Given the description of an element on the screen output the (x, y) to click on. 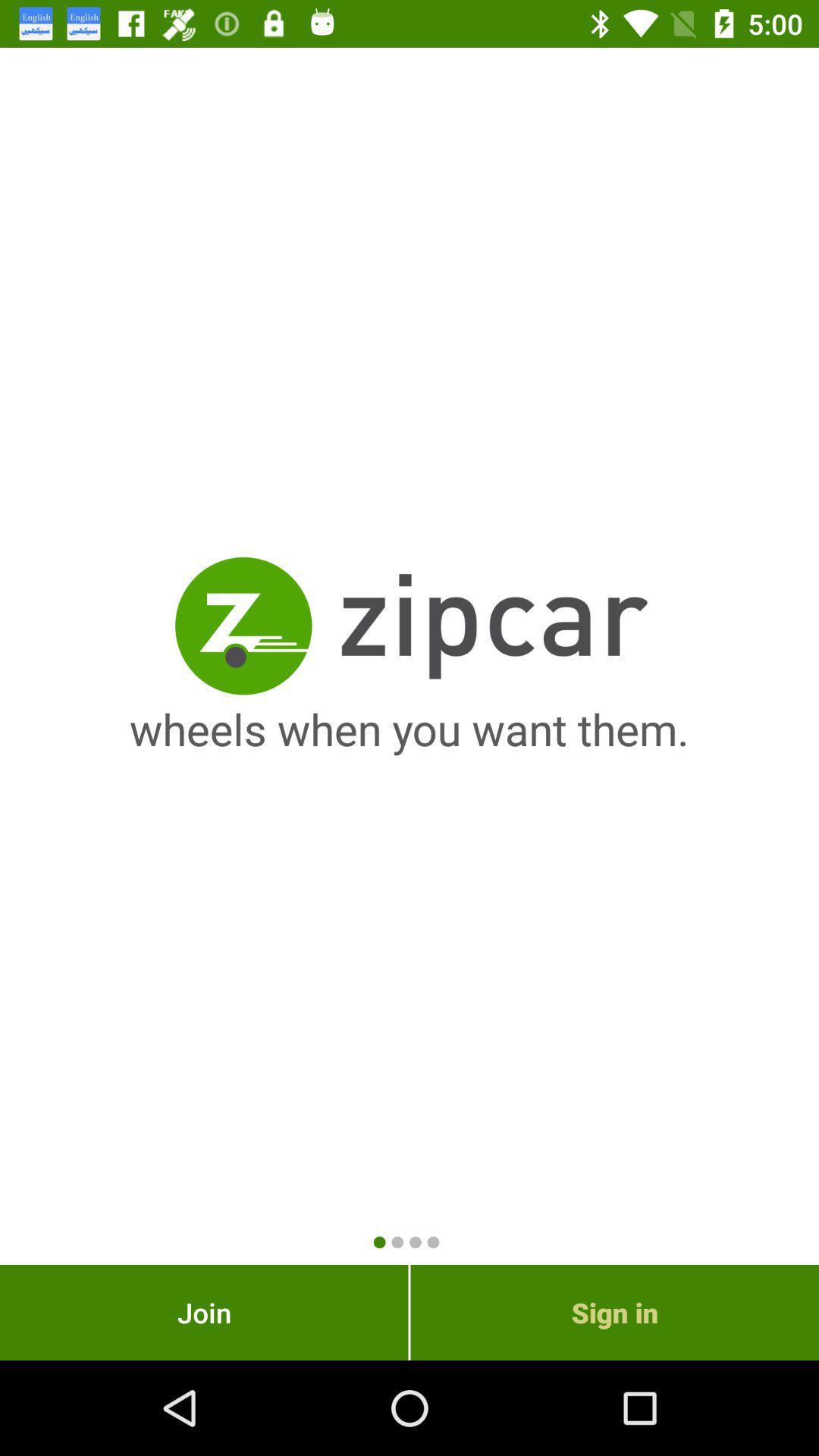
flip to join (204, 1312)
